Given the description of an element on the screen output the (x, y) to click on. 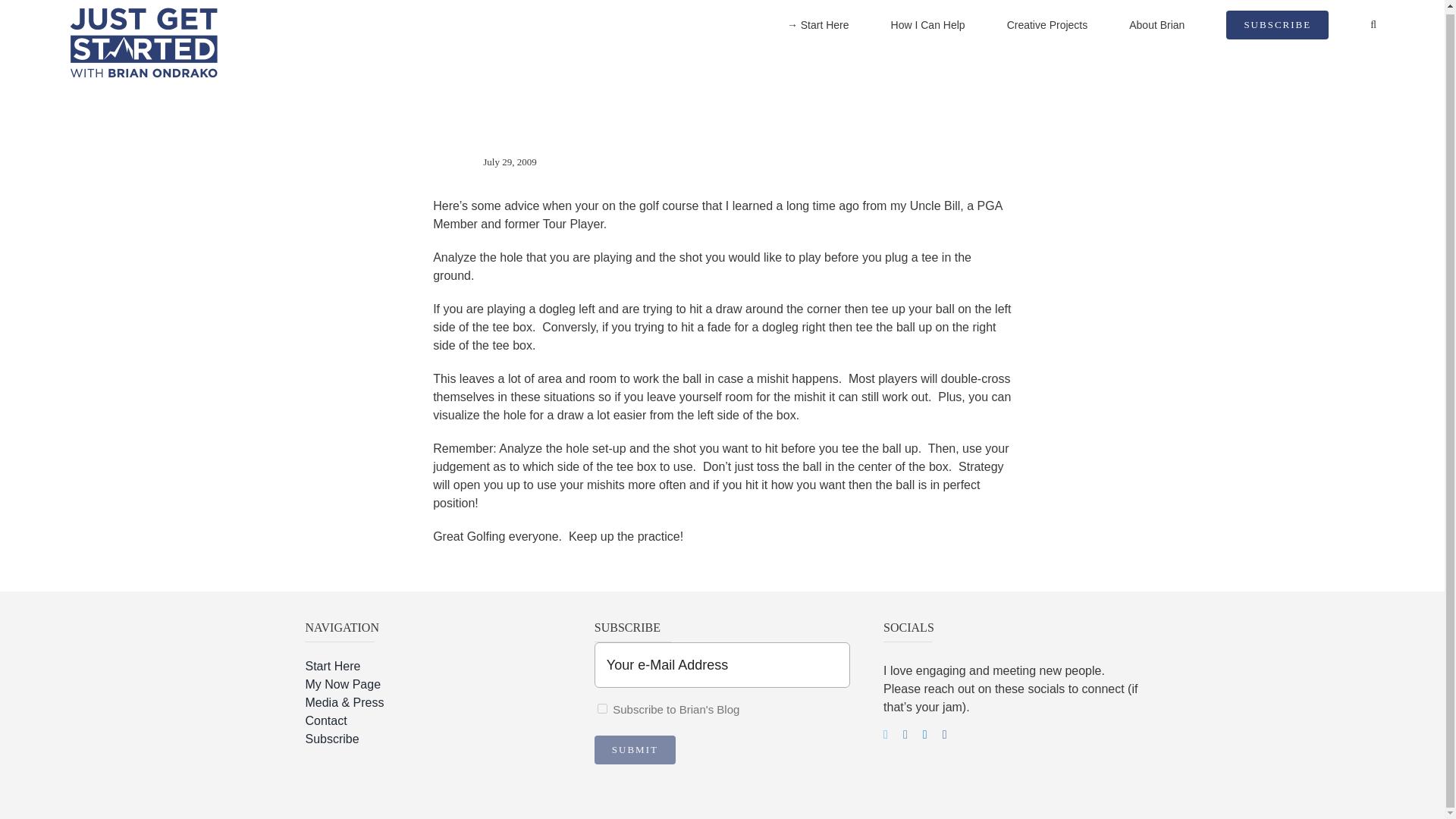
SUBSCRIBE (1276, 26)
Subscribe to Brian's Blog (601, 708)
About Brian (1157, 26)
How I Can Help (928, 26)
Creative Projects (1047, 26)
Start Here (432, 666)
Submit (634, 749)
